Given the description of an element on the screen output the (x, y) to click on. 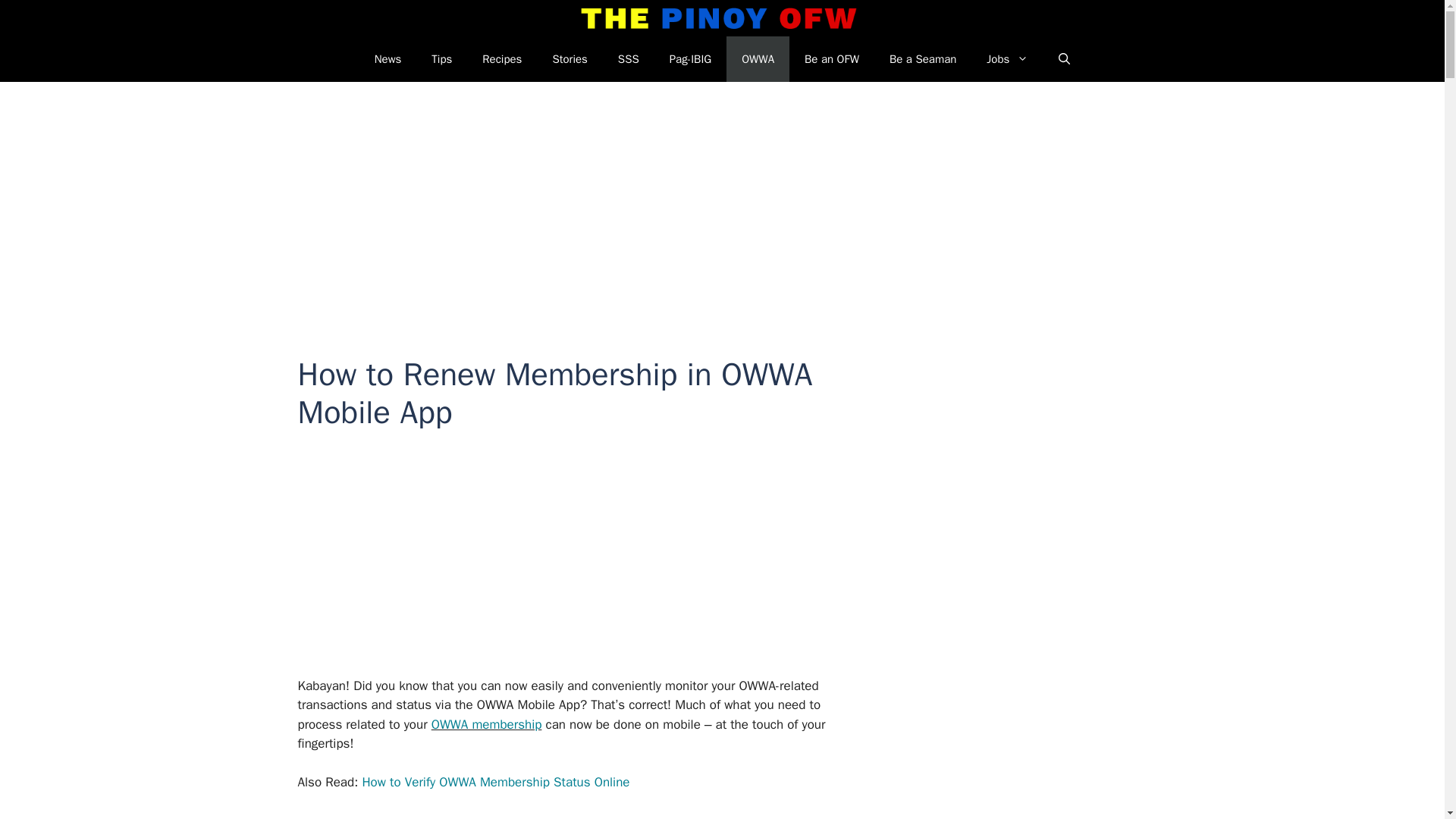
Recipes (502, 58)
Jobs (1007, 58)
Pag-IBIG (689, 58)
Be a Seaman (923, 58)
Be an OFW (832, 58)
Advertisement (596, 563)
Stories (569, 58)
The Pinoy OFW (718, 18)
OWWA (757, 58)
News (387, 58)
SSS (627, 58)
Tips (441, 58)
